Given the description of an element on the screen output the (x, y) to click on. 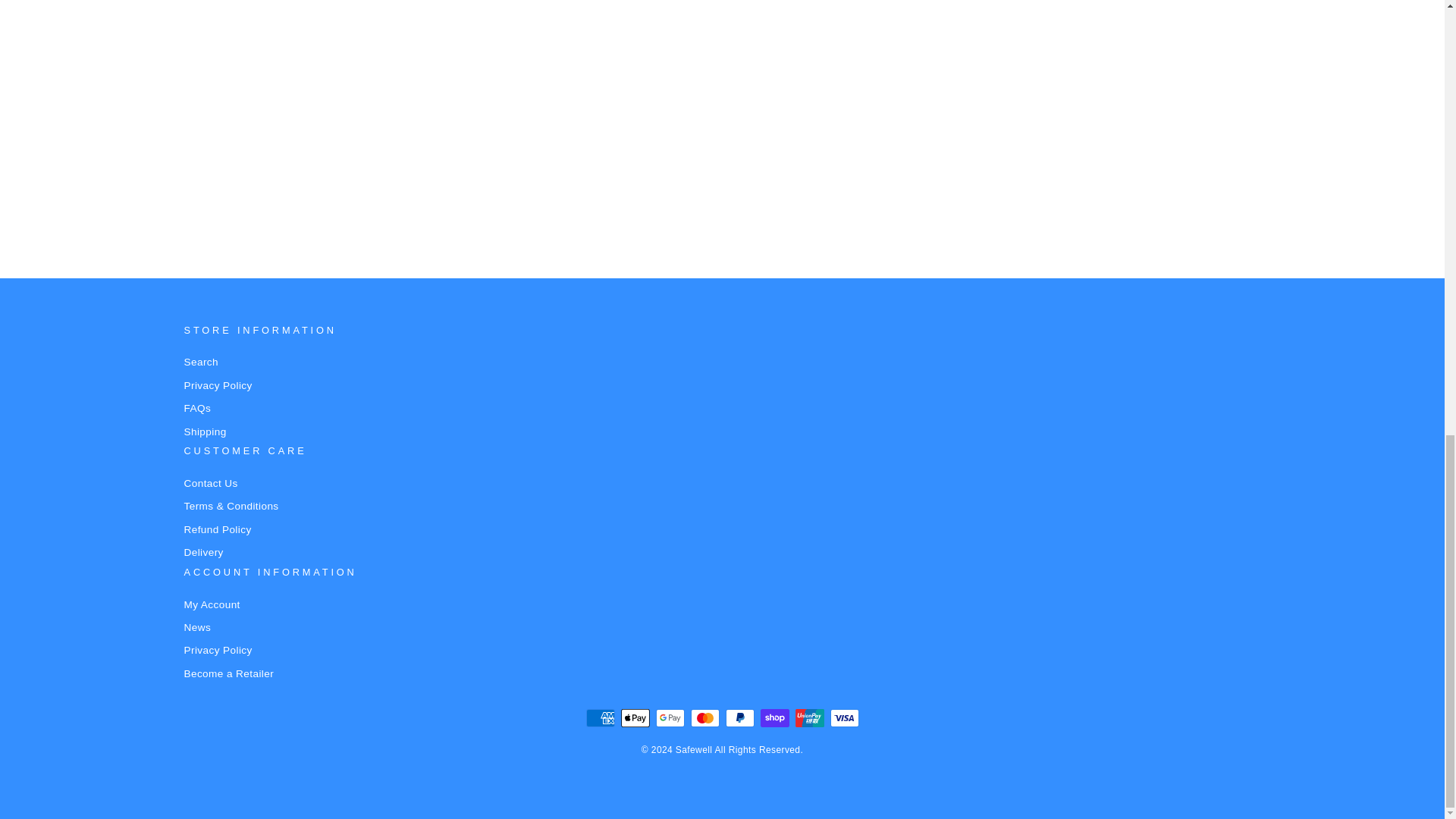
Shop Pay (774, 718)
Union Pay (809, 718)
Mastercard (704, 718)
Visa (844, 718)
Google Pay (669, 718)
Apple Pay (634, 718)
American Express (599, 718)
PayPal (739, 718)
